Given the description of an element on the screen output the (x, y) to click on. 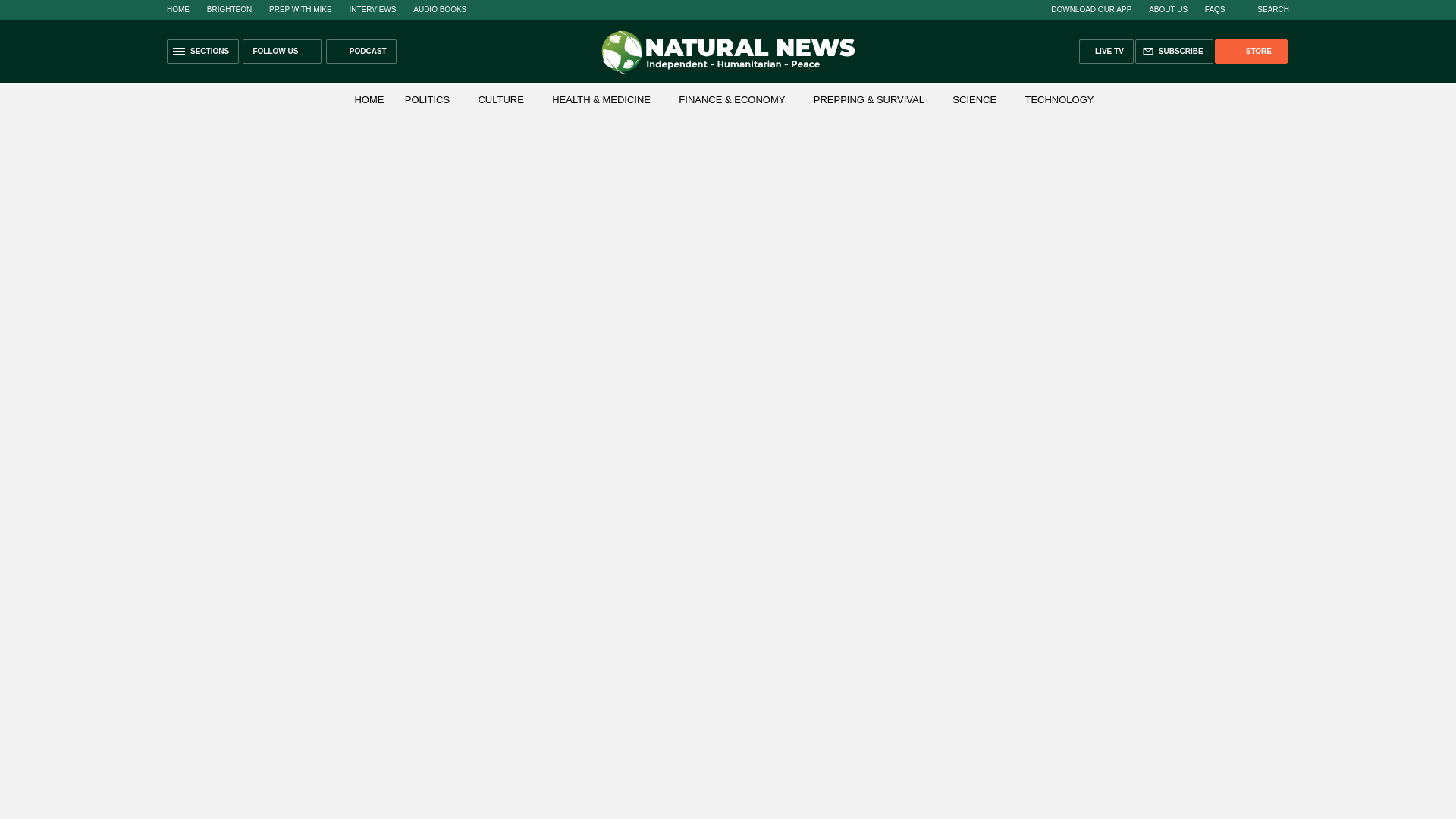
BRIGHTEON (228, 8)
PREP WITH MIKE (300, 8)
ABOUT US (1168, 8)
INTERVIEWS (372, 8)
SCIENCE (974, 99)
FAQS (1215, 8)
POLITICS (427, 99)
LIVE TV (1106, 51)
HOME (369, 99)
SEARCH (1264, 8)
HOME (178, 8)
TECHNOLOGY (1058, 99)
DOWNLOAD OUR APP (1091, 8)
PODCAST (361, 51)
SUBSCRIBE (1173, 51)
